Given the description of an element on the screen output the (x, y) to click on. 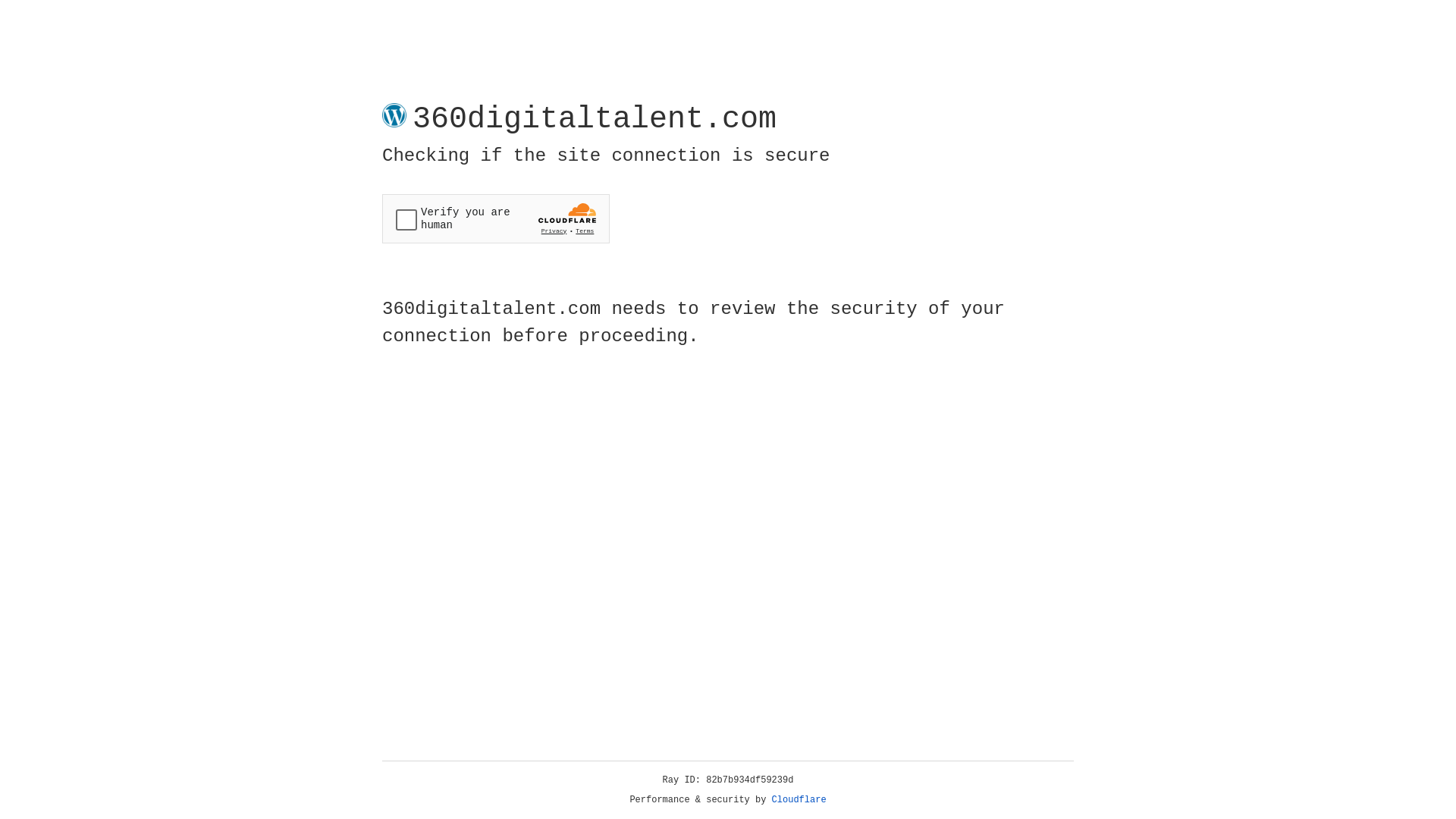
Widget containing a Cloudflare security challenge Element type: hover (495, 218)
Cloudflare Element type: text (798, 799)
